Given the description of an element on the screen output the (x, y) to click on. 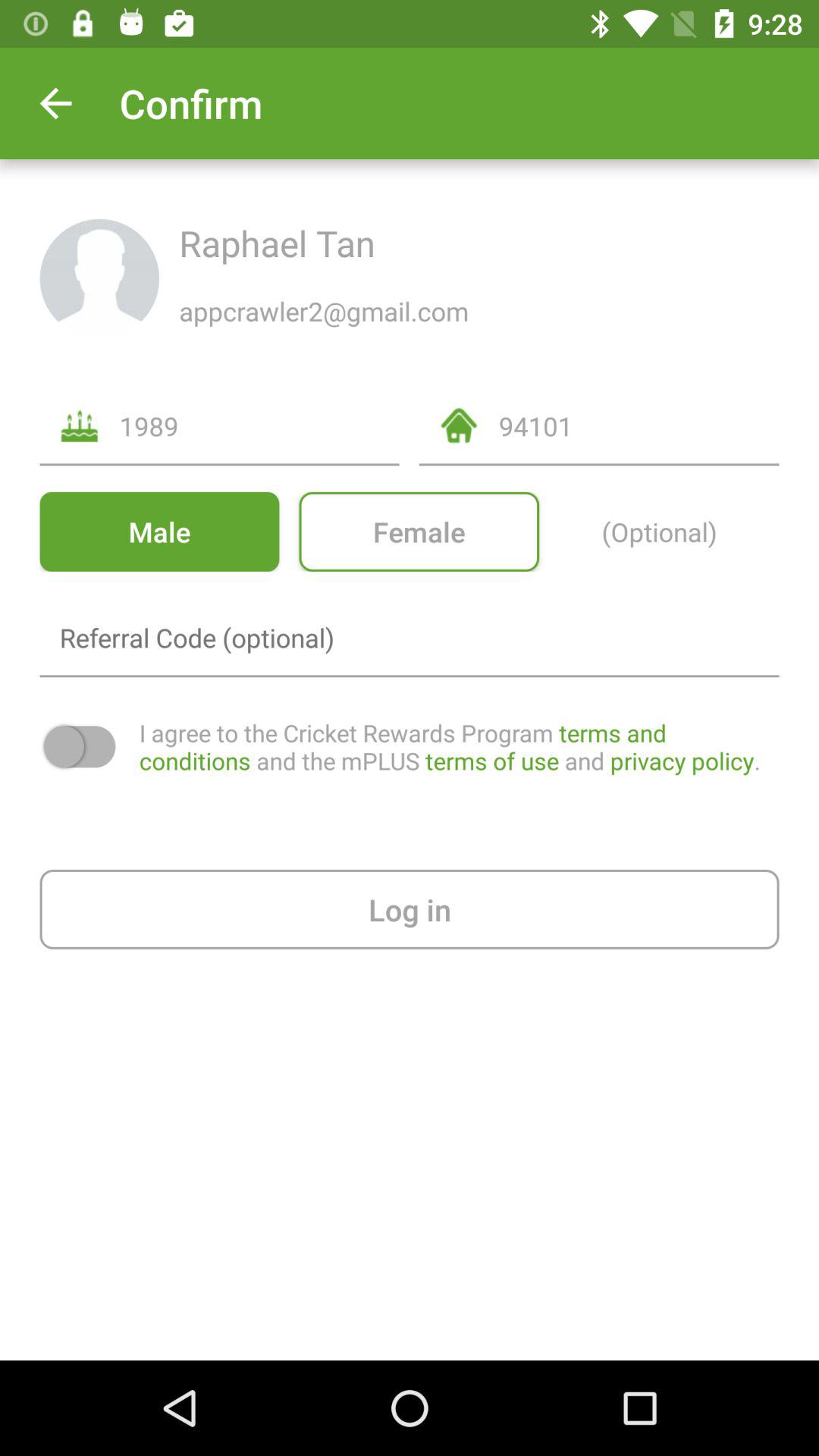
select 94101 icon (638, 425)
